Given the description of an element on the screen output the (x, y) to click on. 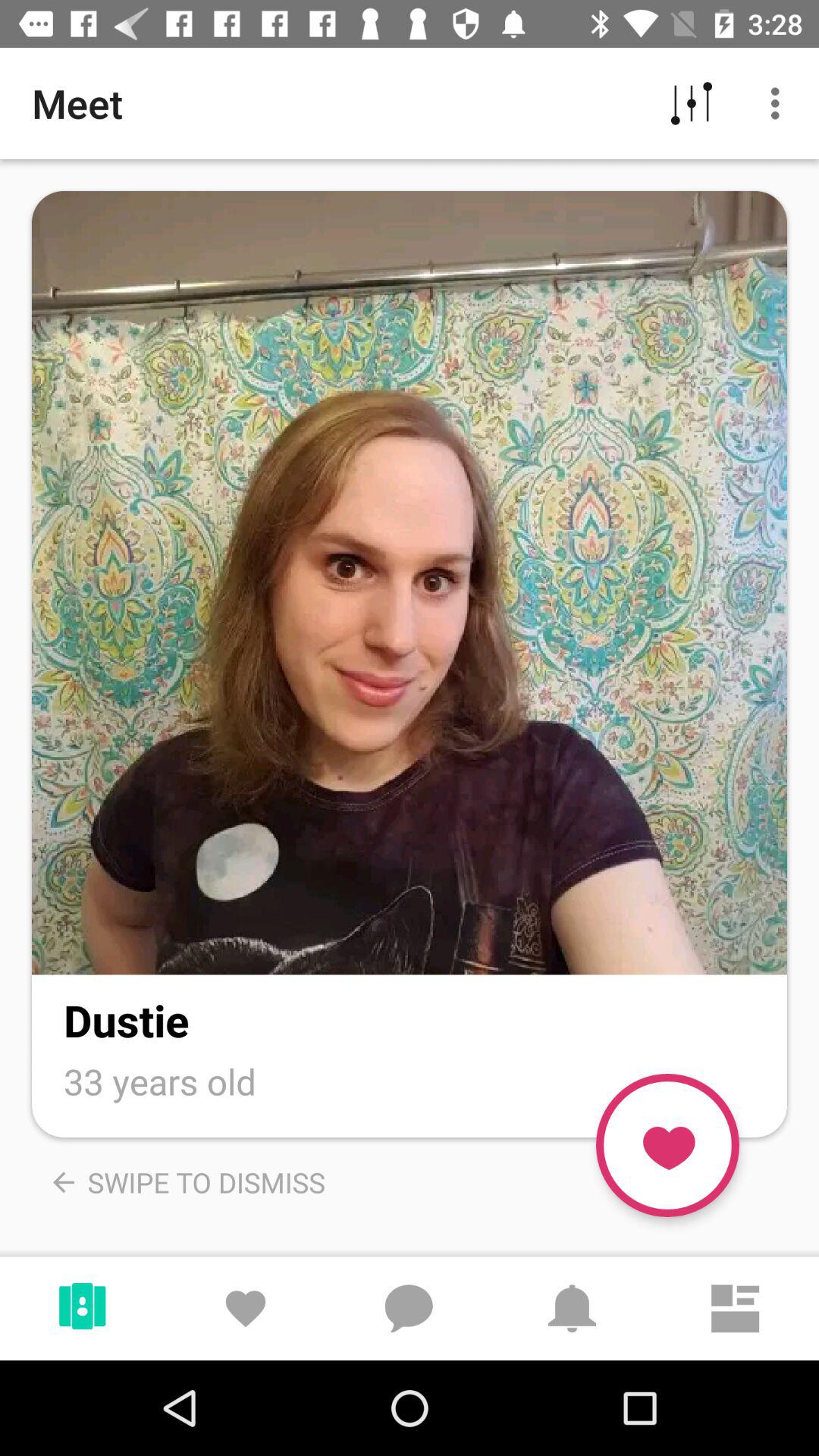
turn on the icon above the swipe to dismiss item (159, 1081)
